Given the description of an element on the screen output the (x, y) to click on. 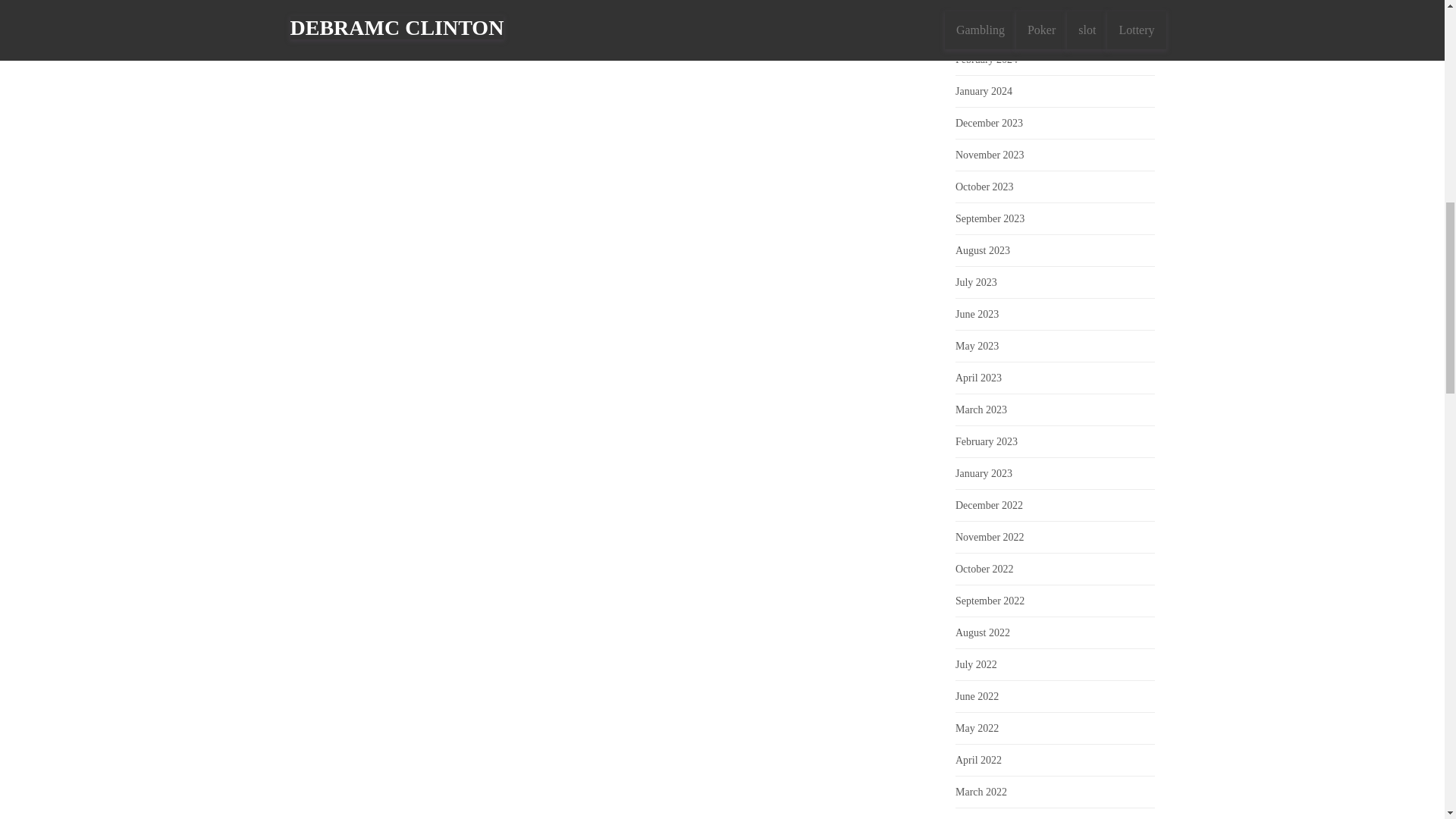
March 2024 (981, 27)
December 2022 (989, 505)
December 2023 (989, 122)
August 2023 (982, 250)
October 2022 (984, 568)
March 2023 (981, 409)
June 2023 (976, 314)
February 2024 (986, 59)
January 2023 (983, 473)
July 2023 (976, 282)
